Given the description of an element on the screen output the (x, y) to click on. 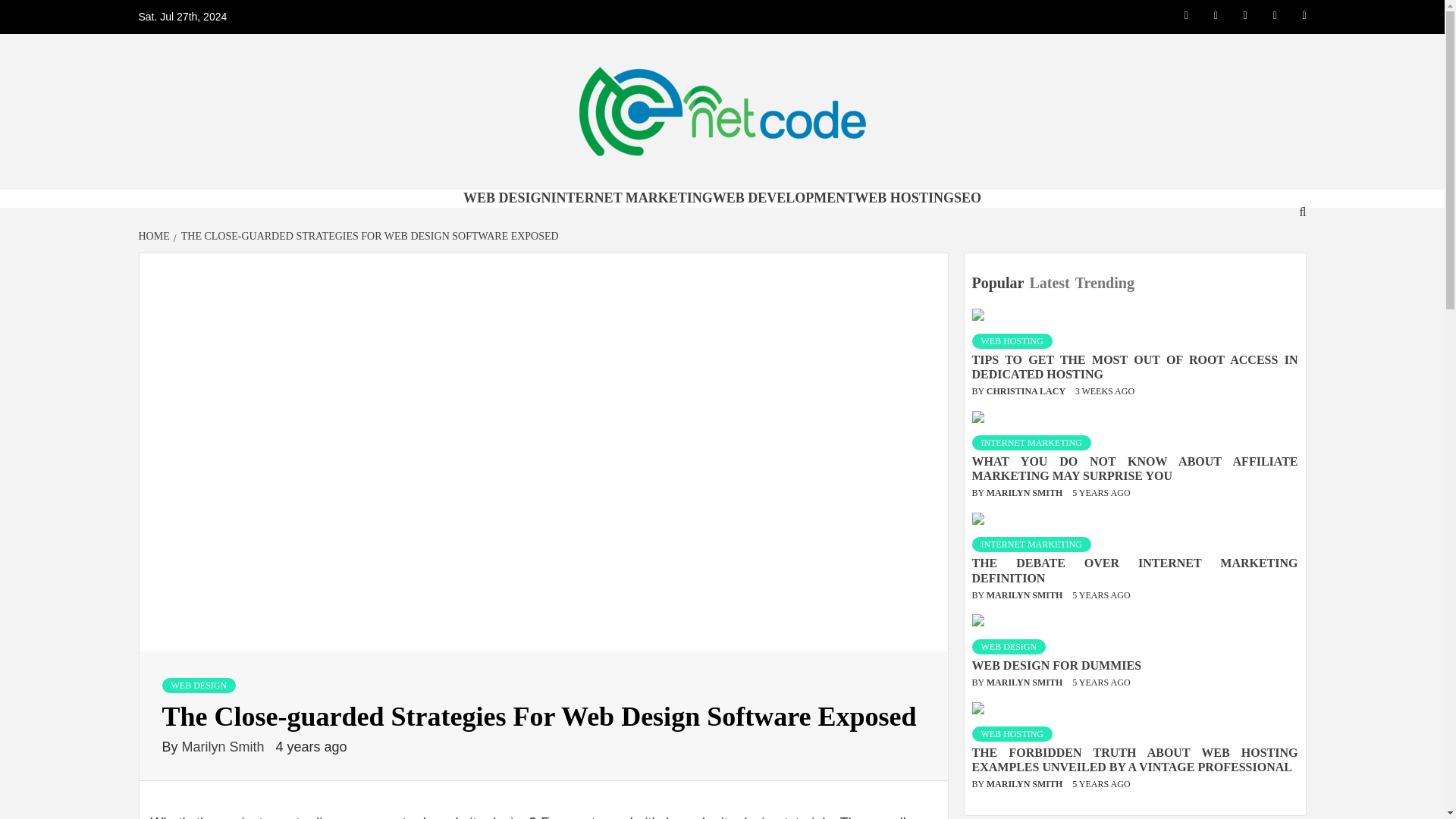
WEB DESIGN (198, 685)
TIPS TO GET THE MOST OUT OF ROOT ACCESS IN DEDICATED HOSTING (1135, 366)
Marilyn Smith (224, 746)
INTERNET MARKETING (632, 197)
MARILYN SMITH (1026, 492)
CHRISTINA LACY (1027, 390)
WEB DEVELOPMENT (784, 197)
WEB DESIGN (507, 197)
SEO (967, 197)
WEB HOSTING (1012, 340)
MARILYN SMITH (1026, 594)
Latest (1051, 283)
Trending (1106, 283)
